Given the description of an element on the screen output the (x, y) to click on. 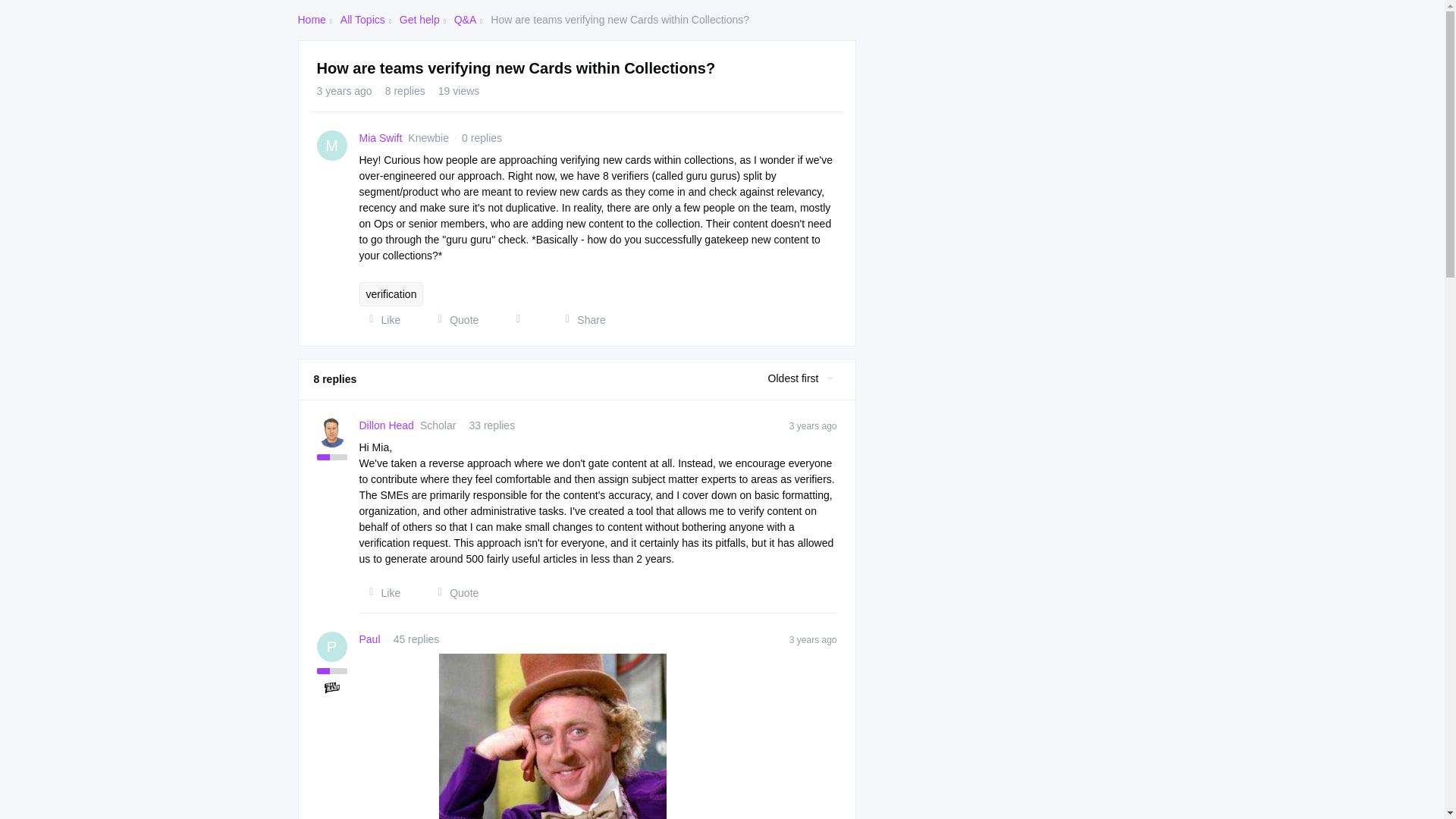
verification (391, 293)
M (332, 145)
Paul (369, 639)
Get help (418, 19)
Like (380, 592)
Dillon Head (386, 425)
8 replies (405, 91)
3 years ago (813, 639)
All Topics (362, 19)
Mia Swift (381, 138)
Dillon Head (386, 425)
Like (380, 319)
Paul (369, 639)
Home (310, 19)
Quote (453, 592)
